Given the description of an element on the screen output the (x, y) to click on. 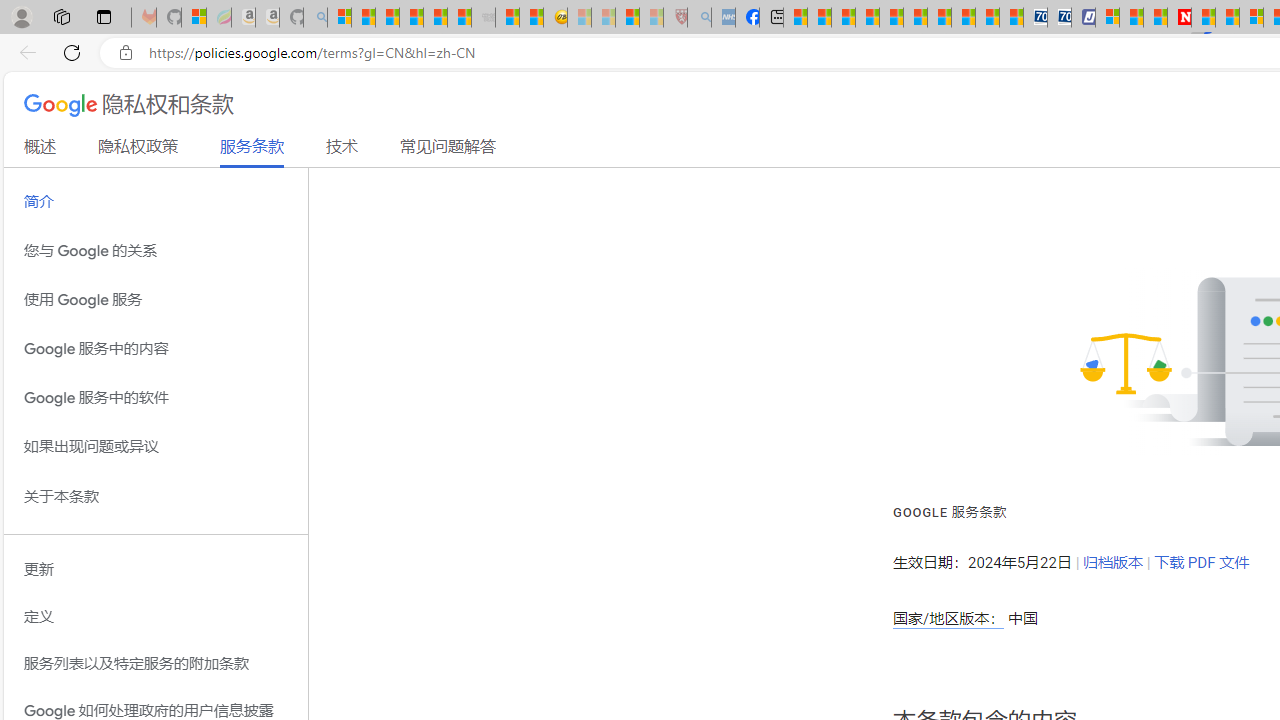
The Weather Channel - MSN (387, 17)
12 Popular Science Lies that Must be Corrected - Sleeping (651, 17)
Combat Siege - Sleeping (483, 17)
14 Common Myths Debunked By Scientific Facts (1227, 17)
